Given the description of an element on the screen output the (x, y) to click on. 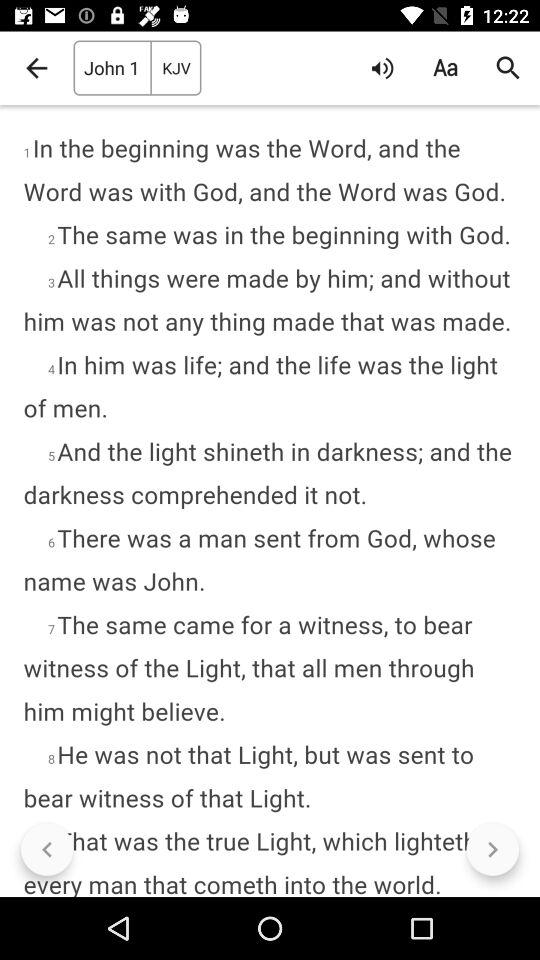
turn off the item to the right of the kjv (381, 67)
